Given the description of an element on the screen output the (x, y) to click on. 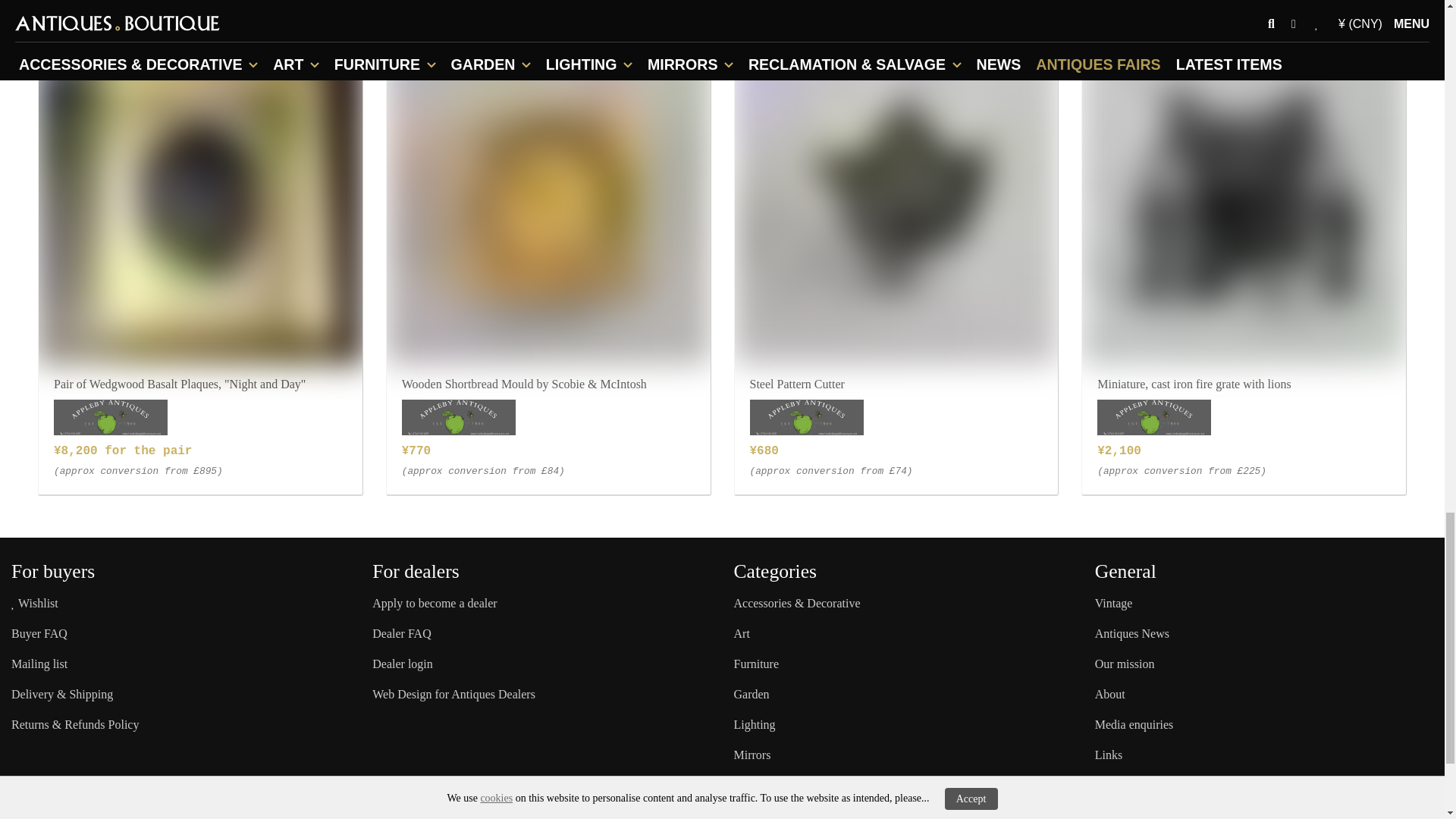
Miniature, cast iron fire grate with lions (1243, 201)
Pair of Wedgwood Basalt Plaques, "Night and Day" (200, 201)
Steel Pattern Cutter (895, 201)
